Given the description of an element on the screen output the (x, y) to click on. 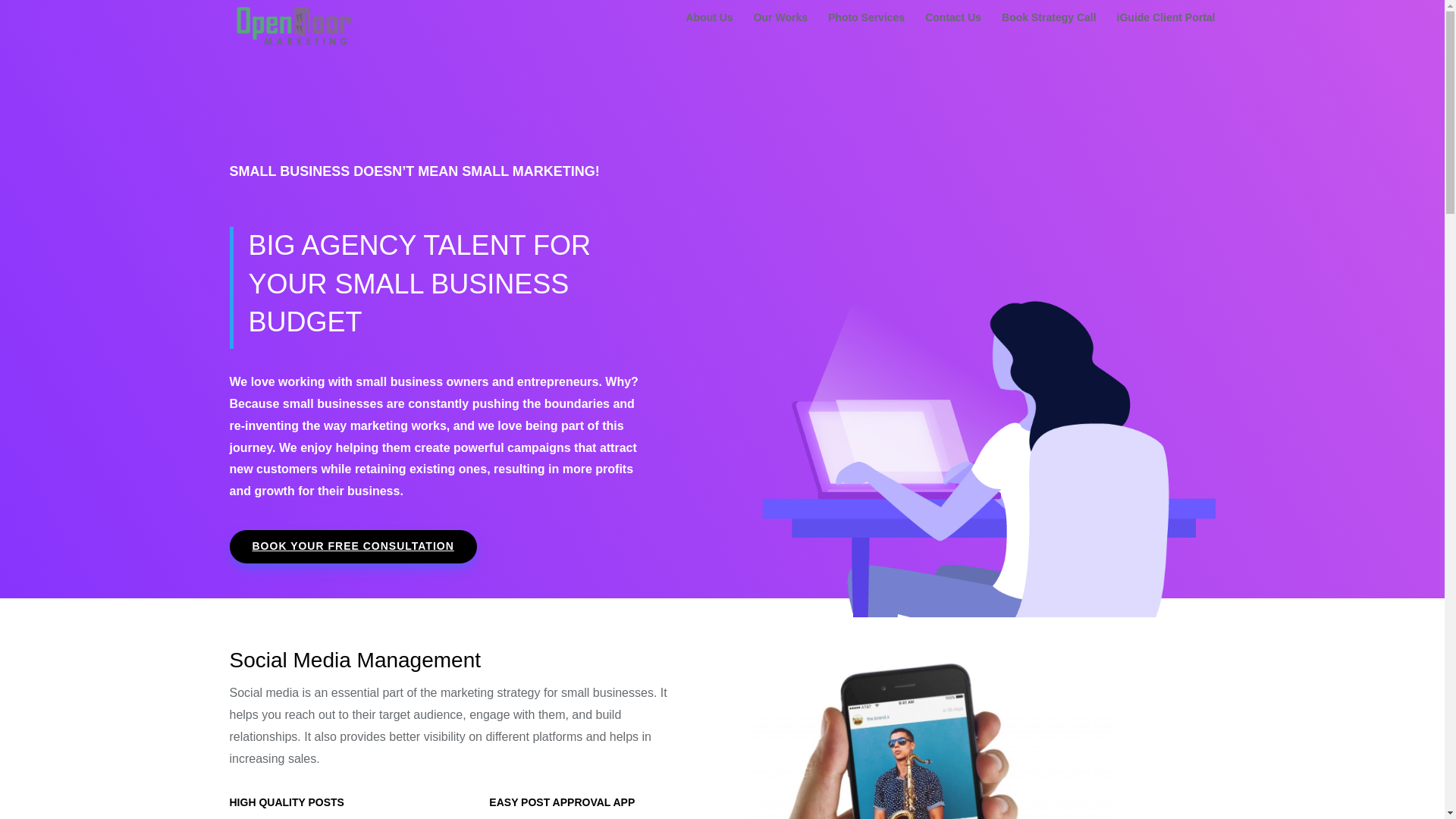
iGuide Client Portal (1165, 31)
Social Media Management Calgary (930, 732)
Contact Us (952, 31)
Photo Services (866, 31)
Book Strategy Call (1048, 31)
Our Works (781, 31)
BOOK YOUR FREE CONSULTATION (352, 546)
About Us (708, 31)
